Given the description of an element on the screen output the (x, y) to click on. 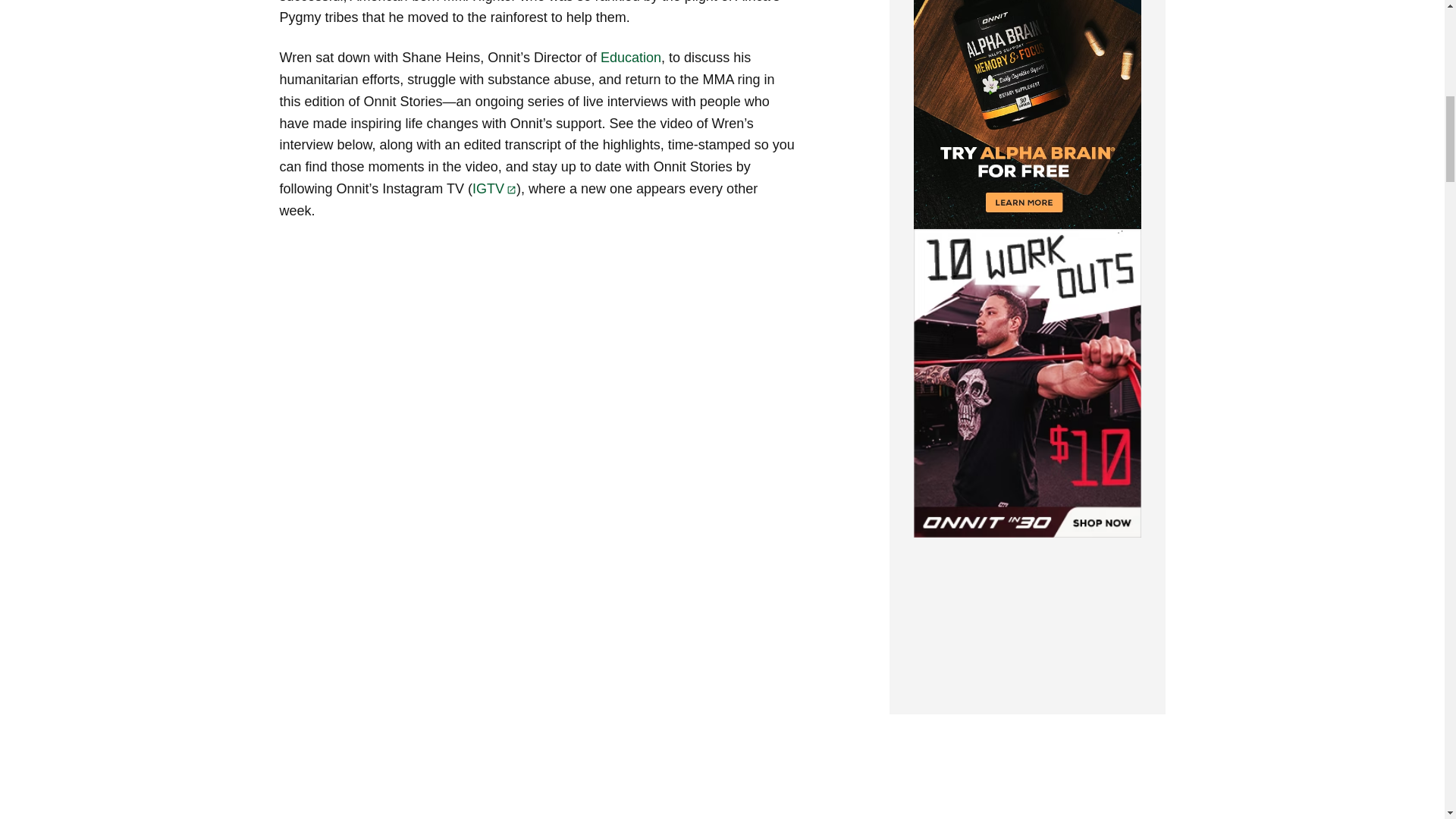
Opens in new window. (511, 189)
